Given the description of an element on the screen output the (x, y) to click on. 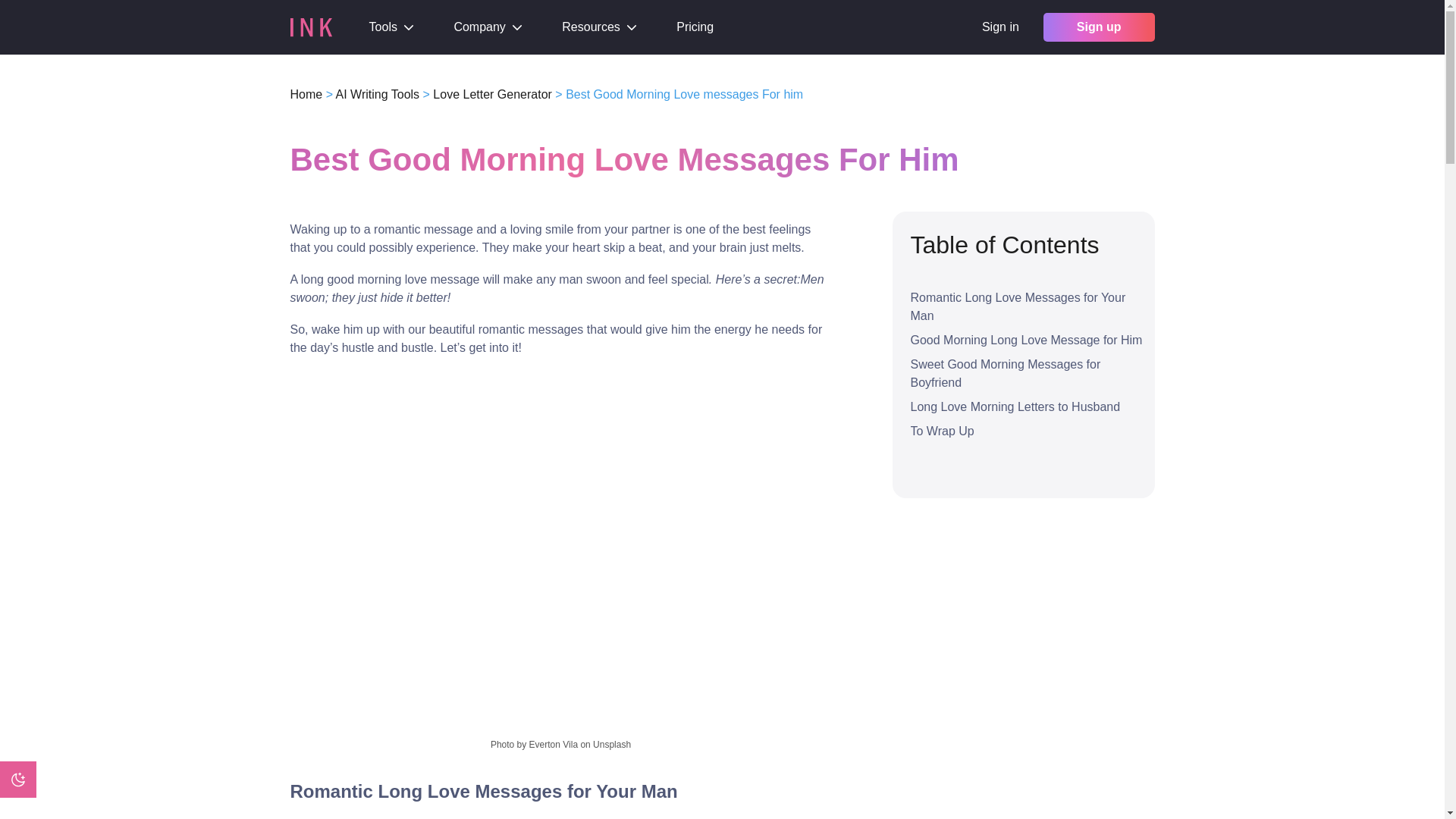
Sign in (1000, 27)
Pricing (694, 27)
Sign up (1098, 27)
